Given the description of an element on the screen output the (x, y) to click on. 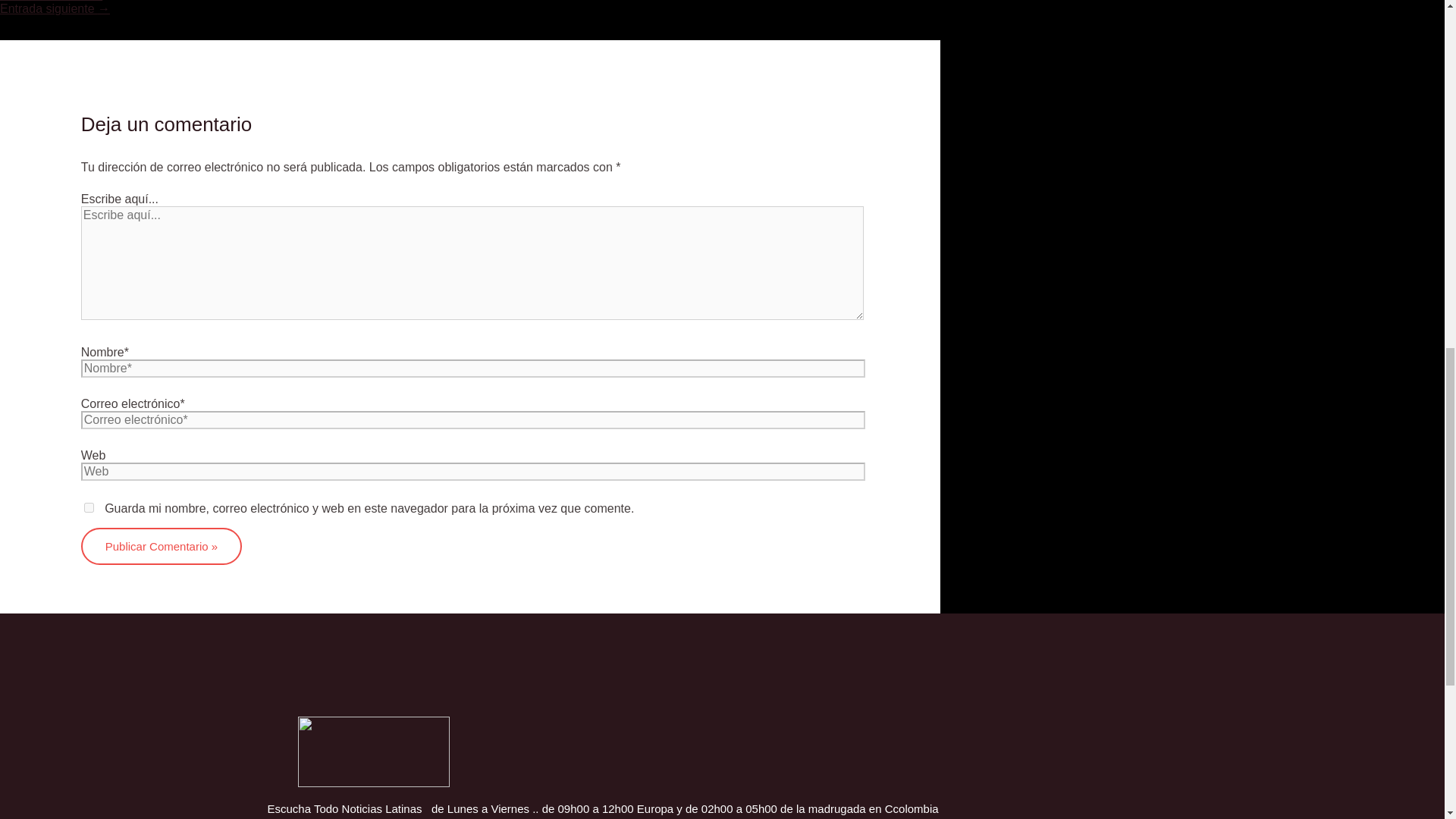
yes (89, 507)
